Given the description of an element on the screen output the (x, y) to click on. 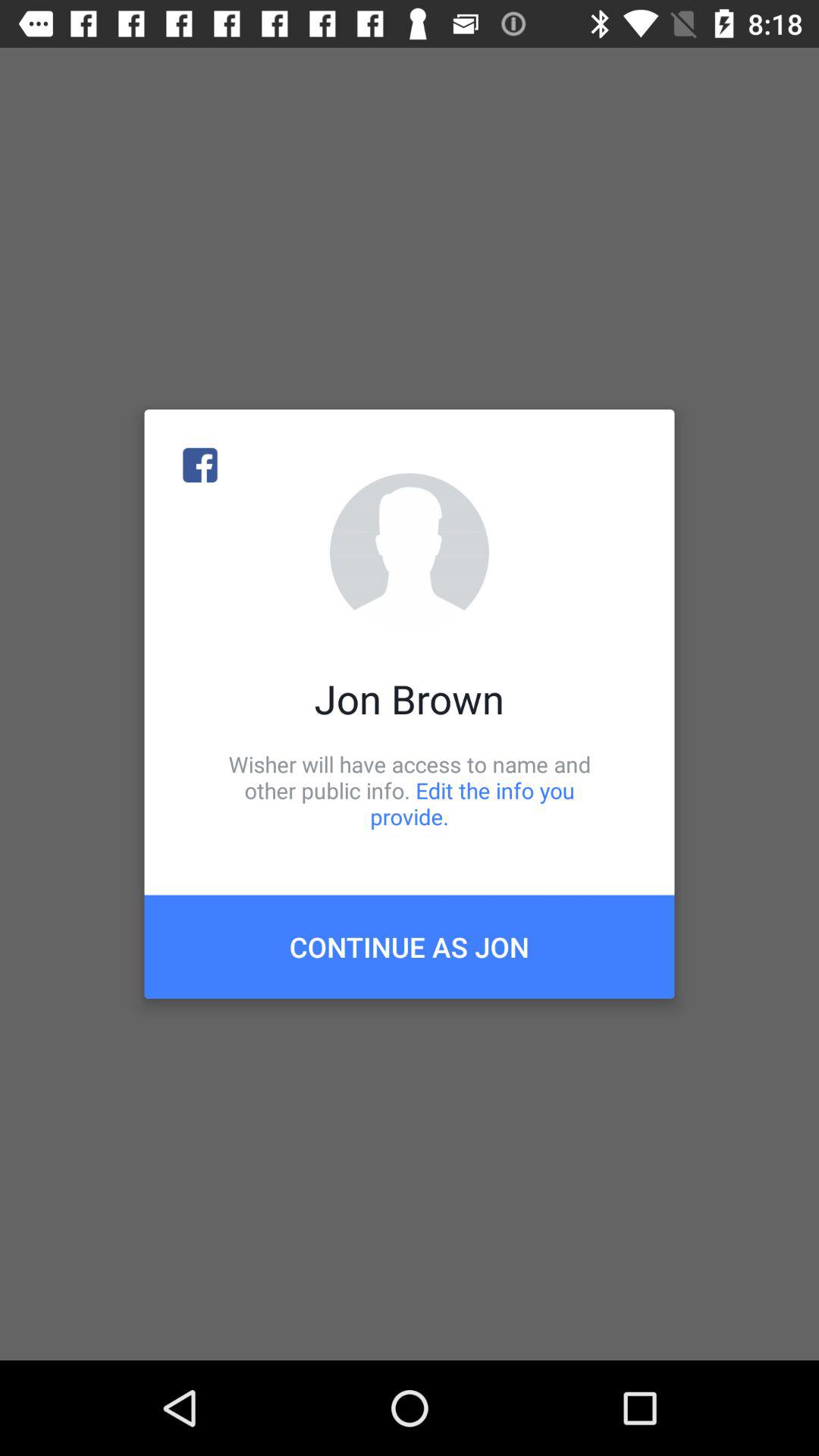
press continue as jon (409, 946)
